Given the description of an element on the screen output the (x, y) to click on. 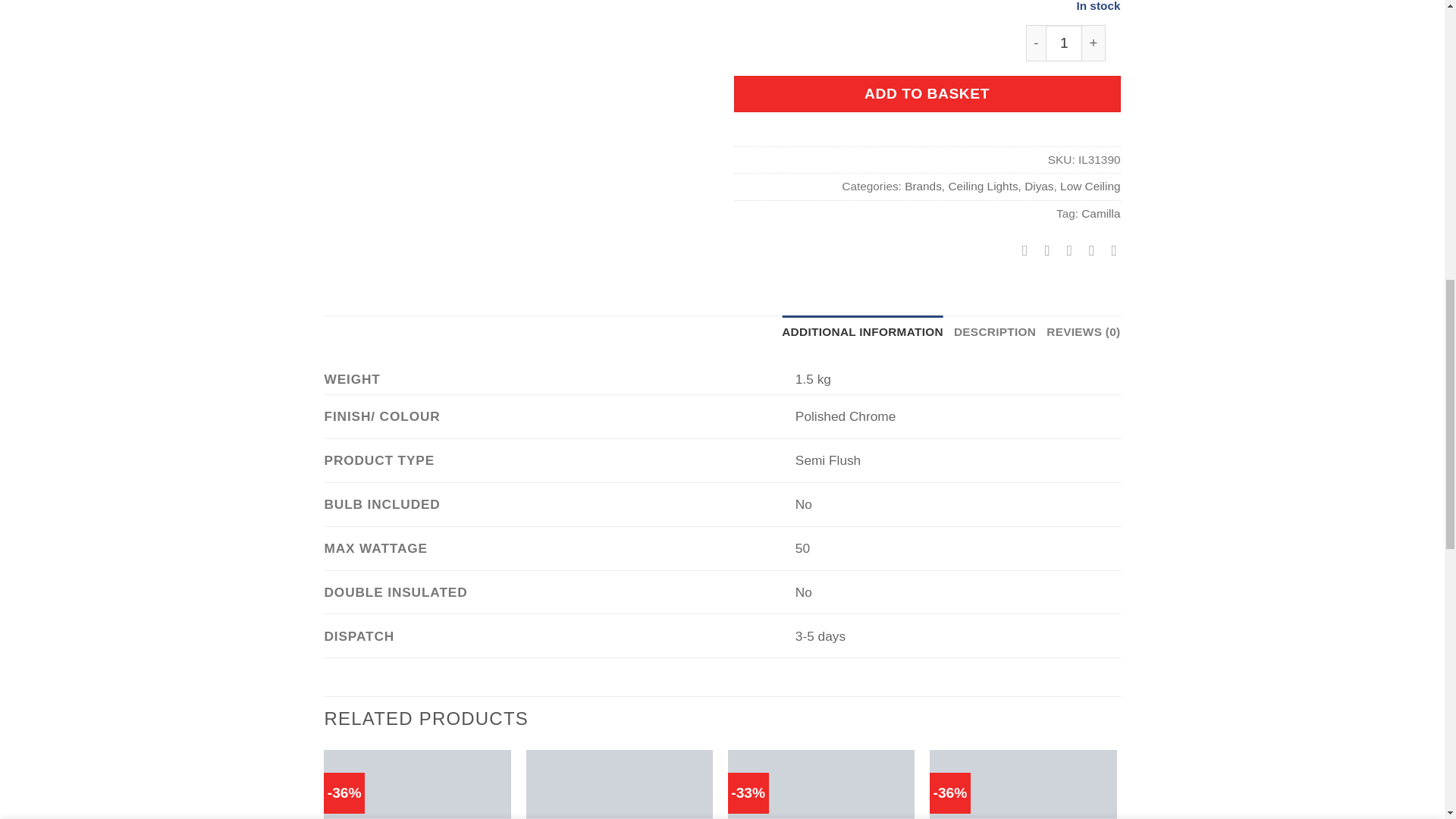
Camilla (1100, 213)
Diyas (1038, 185)
Dar CAD0150- Caden 1lt Flush, Polished Chrome and Opal Glass (821, 784)
1 (1063, 43)
Share on Twitter (1042, 249)
Brands (923, 185)
Dar CIA1302 Ciara 1lt, White (619, 784)
ADD TO BASKET (927, 94)
Ceiling Lights (982, 185)
